Given the description of an element on the screen output the (x, y) to click on. 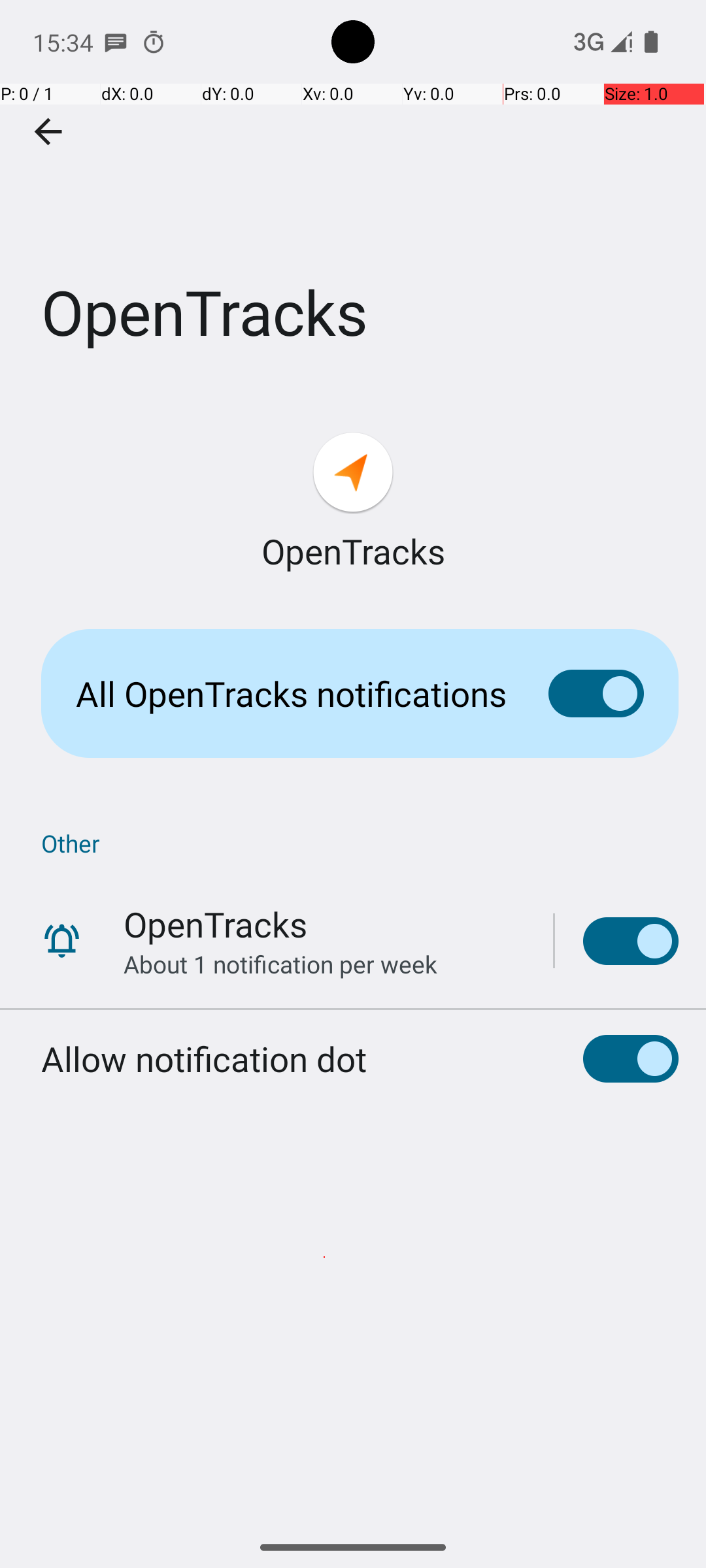
All OpenTracks notifications Element type: android.widget.TextView (291, 693)
About 1 notification per week Element type: android.widget.TextView (280, 963)
